Given the description of an element on the screen output the (x, y) to click on. 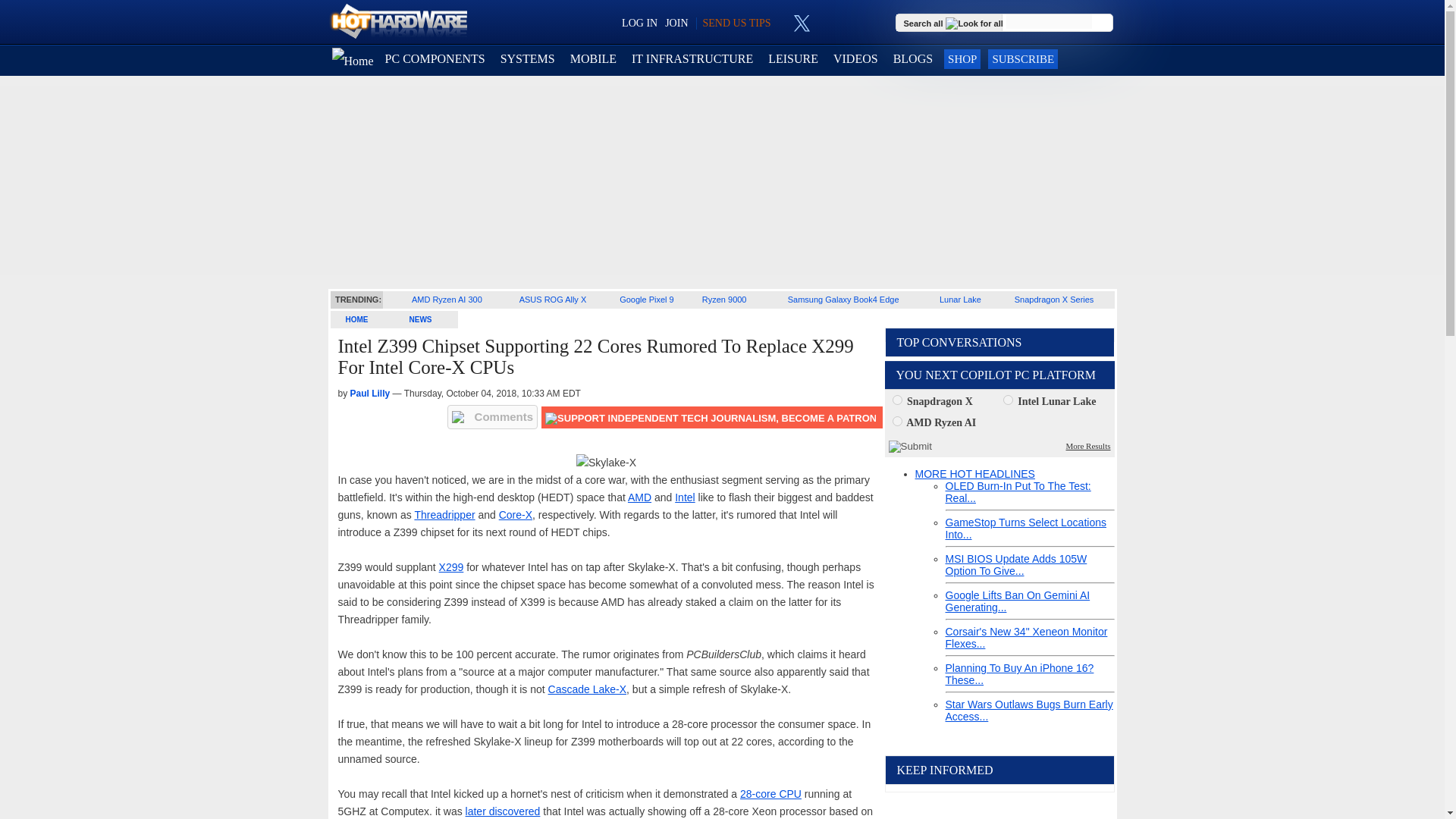
SEND US TIPS (735, 22)
JOIN (676, 22)
Blogs (912, 58)
758 (1008, 399)
PC COMPONENTS (435, 58)
Go (1103, 22)
LOG IN (639, 22)
Go (1103, 22)
759 (896, 420)
Go (1103, 22)
